Given the description of an element on the screen output the (x, y) to click on. 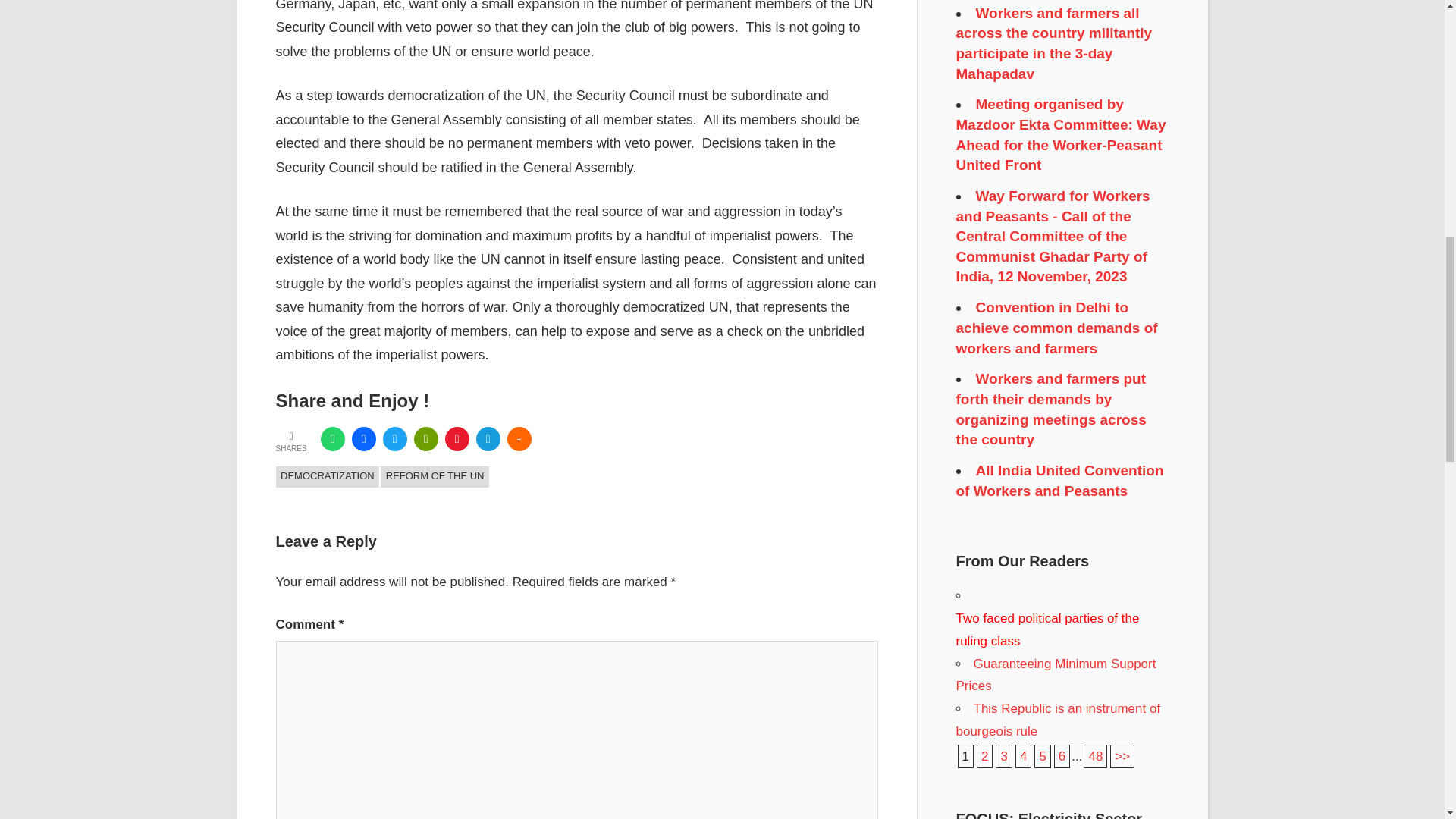
LATEST POSTS (303, 488)
Print this article  (425, 438)
Share this on Facebook (363, 438)
More share links (518, 438)
WhatsApp (332, 438)
Convert to PDF (456, 438)
Telegram (488, 438)
Tweet this ! (394, 438)
